Given the description of an element on the screen output the (x, y) to click on. 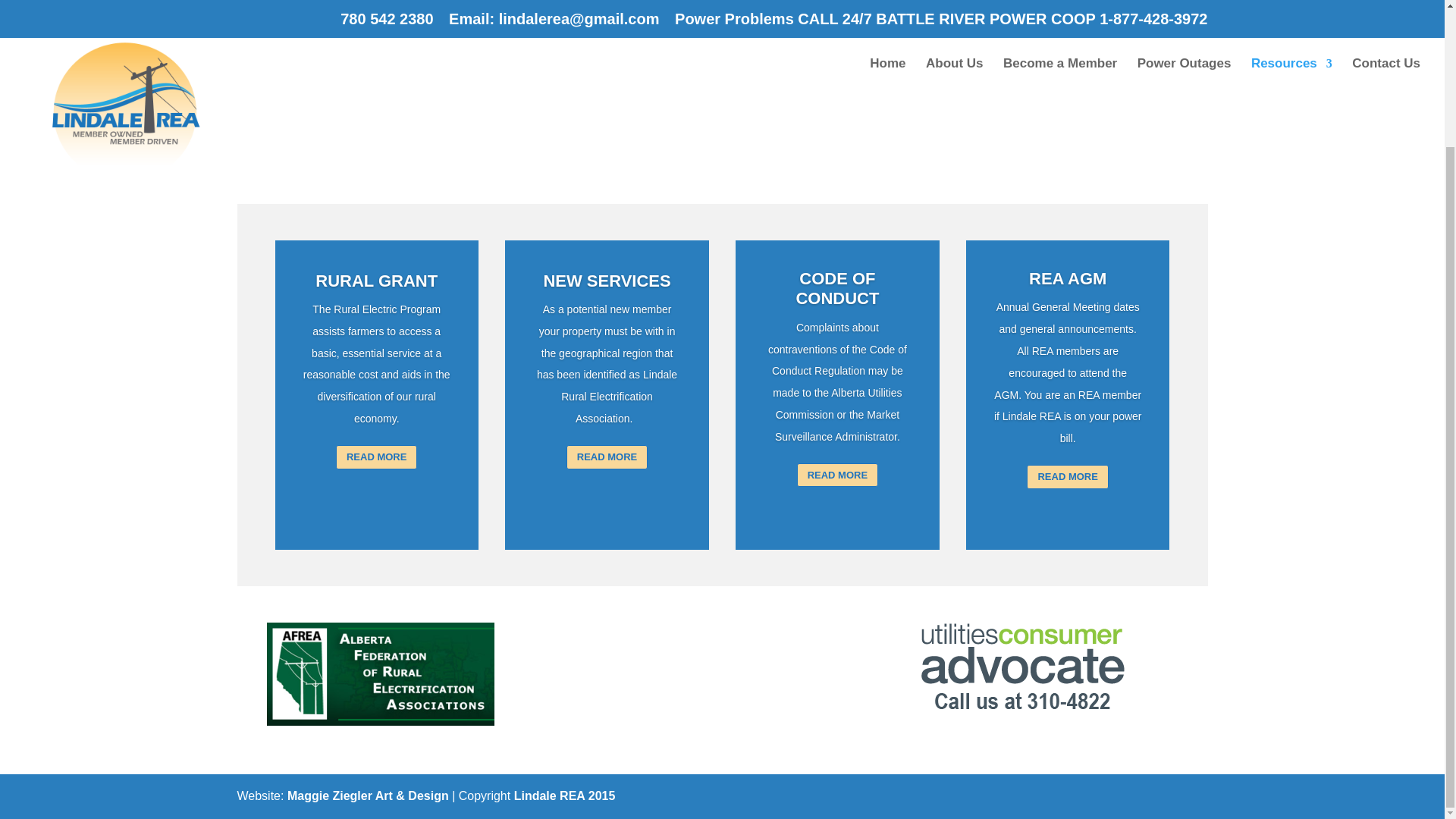
CODE OF CONDUCT (836, 288)
NEW SERVICES (606, 280)
Code Of Compliance Plan (722, 127)
REA AGM (1067, 278)
READ MORE (376, 458)
READ MORE (606, 457)
READ MORE (1067, 476)
RURAL GRANT (376, 284)
READ MORE (836, 475)
